Given the description of an element on the screen output the (x, y) to click on. 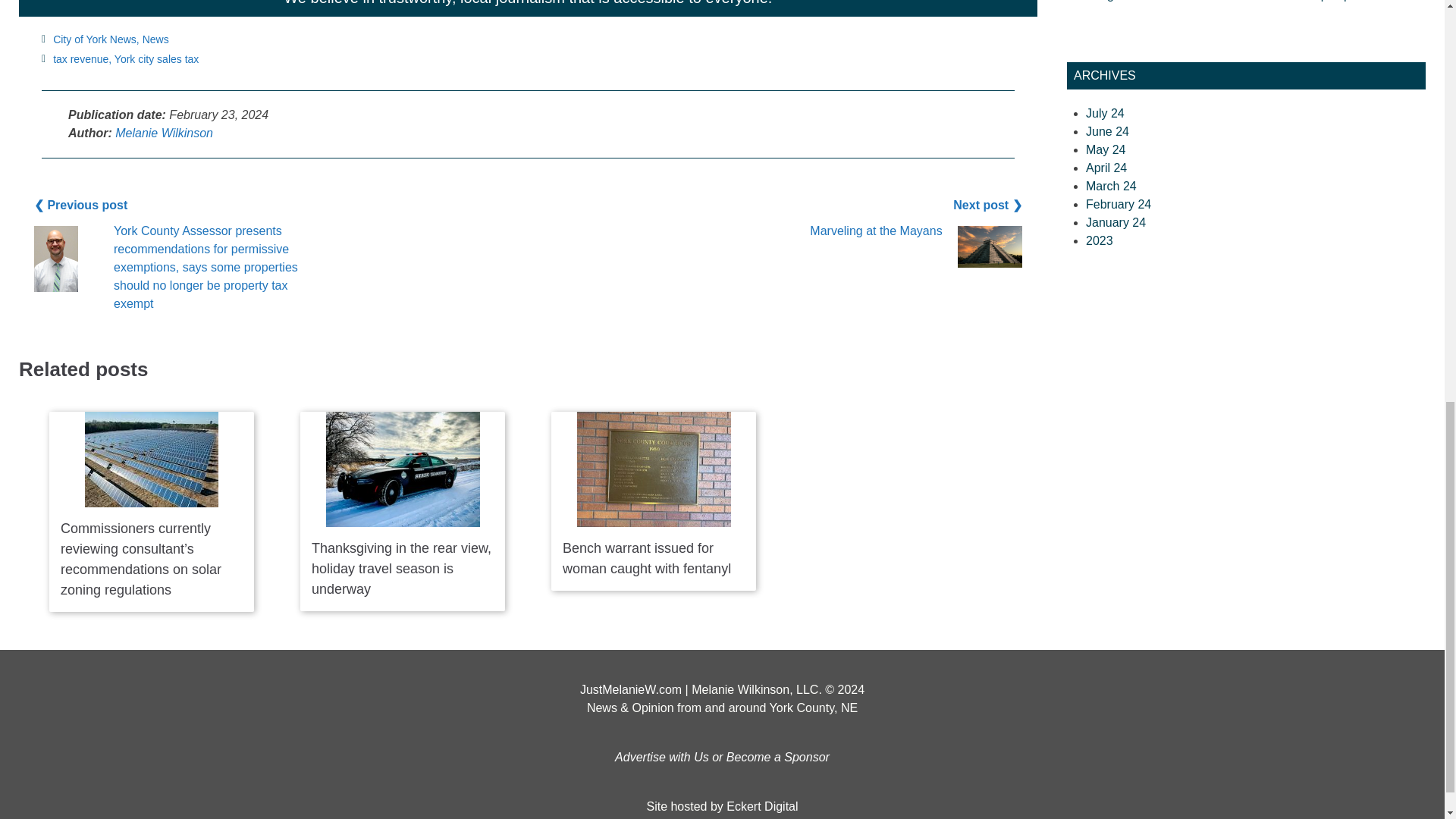
City of York News (94, 39)
tax revenue (79, 59)
Bench warrant issued for woman caught with fentanyl (646, 558)
Bench warrant issued for woman caught with fentanyl (653, 469)
York city sales tax (157, 59)
Melanie Wilkinson (163, 132)
News (155, 39)
Marveling at the Mayans (875, 230)
